Given the description of an element on the screen output the (x, y) to click on. 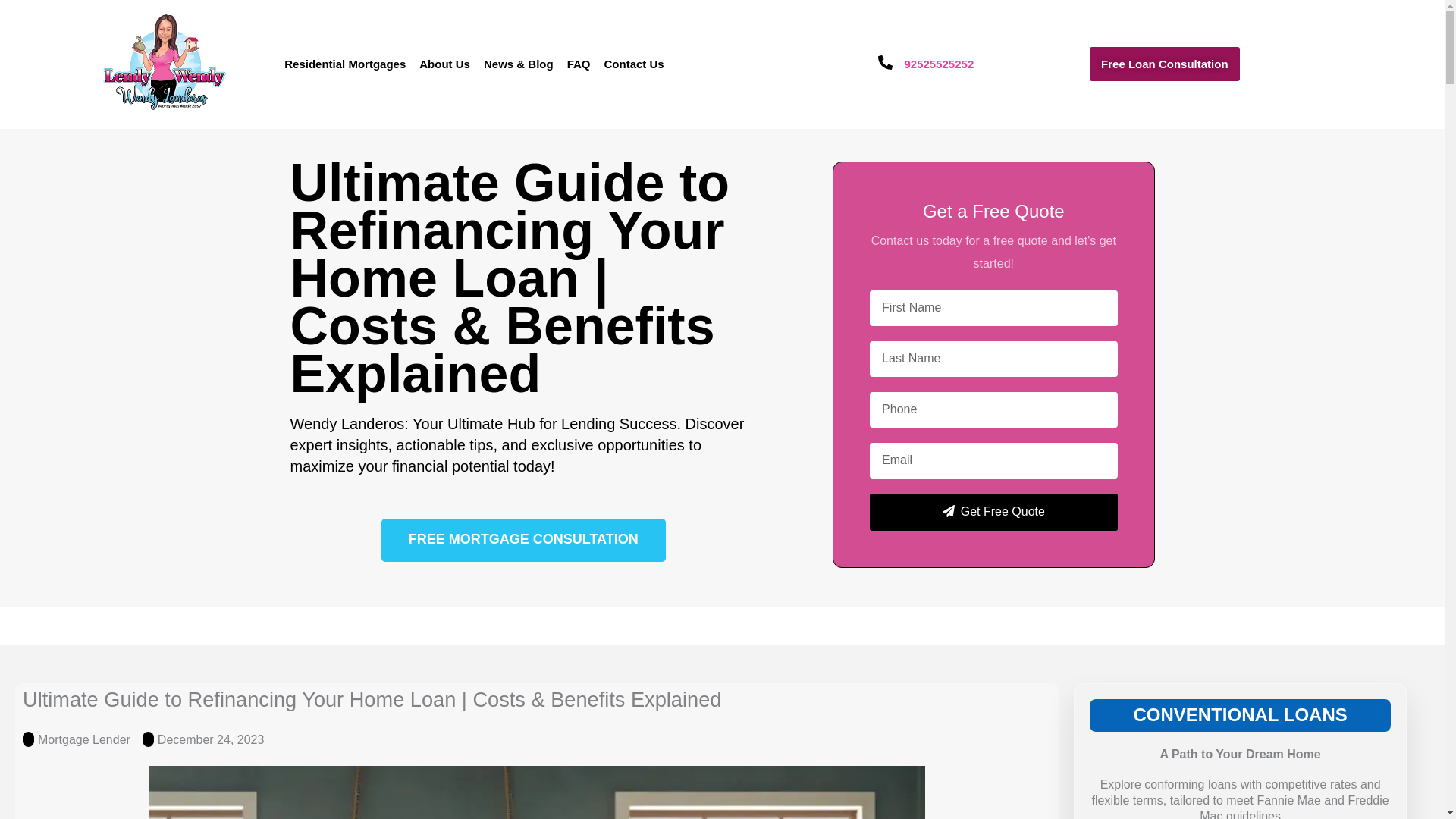
Free Loan Consultation (1164, 63)
CONVENTIONAL LOANS (1239, 714)
Residential Mortgages (345, 64)
FREE MORTGAGE CONSULTATION (523, 539)
Get Free Quote (992, 511)
Contact Us (632, 64)
About Us (444, 64)
